Given the description of an element on the screen output the (x, y) to click on. 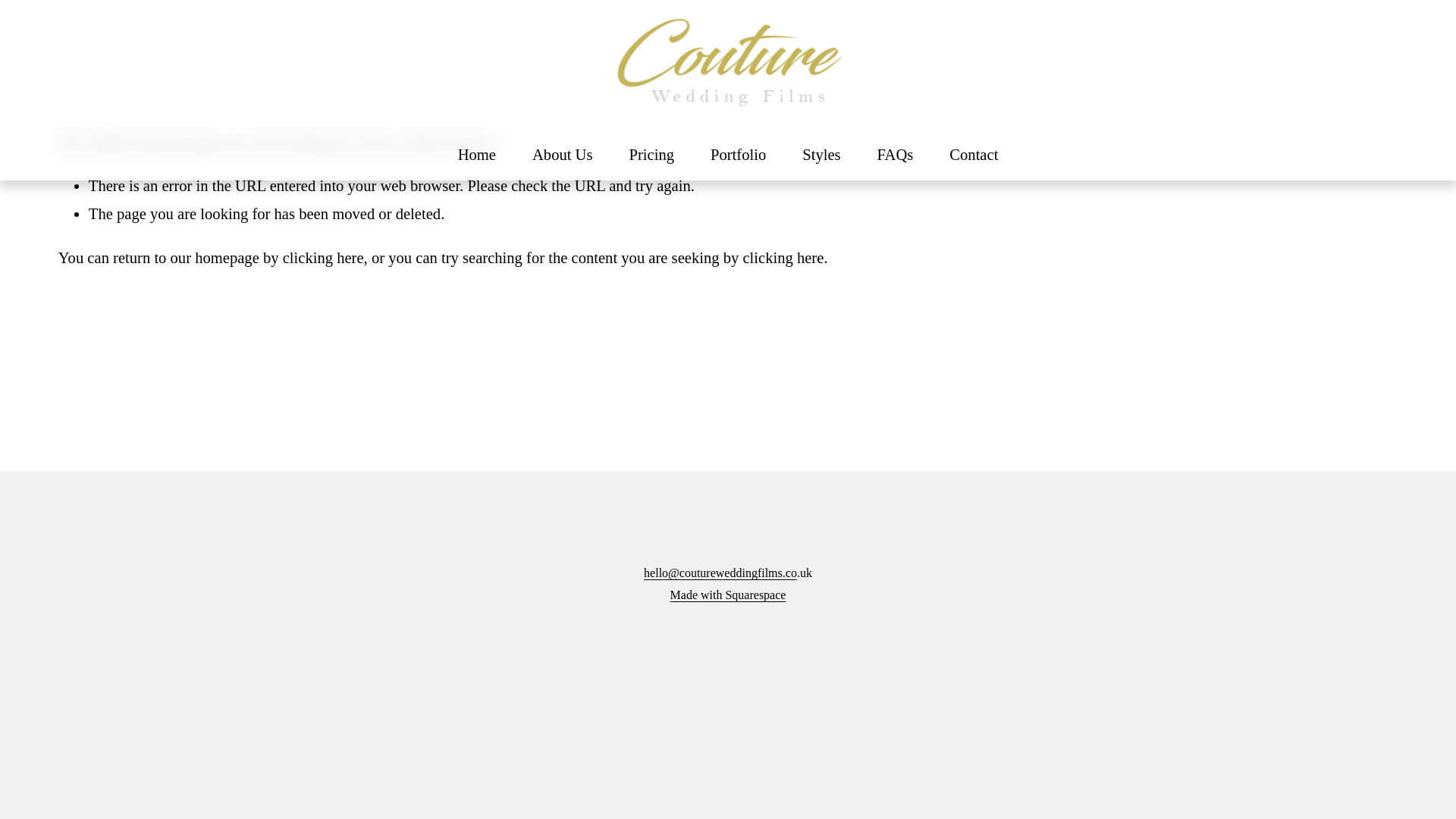
About Us (562, 154)
Portfolio (737, 154)
FAQs (895, 154)
Styles (821, 154)
Home (477, 154)
Pricing (651, 154)
Contact (973, 154)
